Given the description of an element on the screen output the (x, y) to click on. 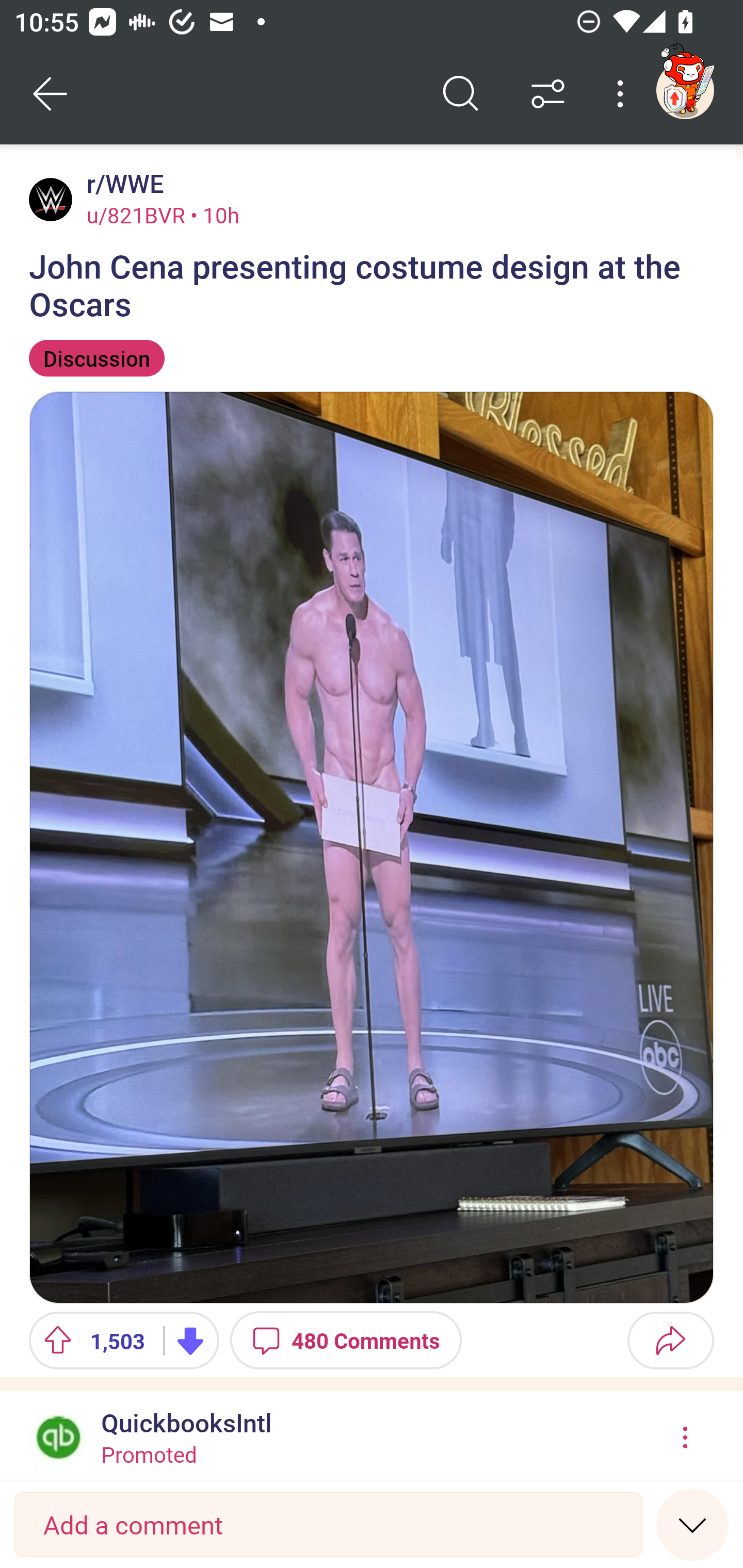
Back (50, 93)
TestAppium002 account (685, 90)
Search comments (460, 93)
Sort comments (547, 93)
More options (623, 93)
r/WWE (121, 183)
Avatar (50, 199)
u/821BVR (135, 214)
Discussion (96, 358)
Image (371, 847)
Upvote 1,503 Downvote 480 Comments Share (371, 1340)
Upvote 1,503 (88, 1340)
480 Comments (346, 1340)
Share (670, 1340)
Speed read (692, 1524)
Add a comment (327, 1524)
